Given the description of an element on the screen output the (x, y) to click on. 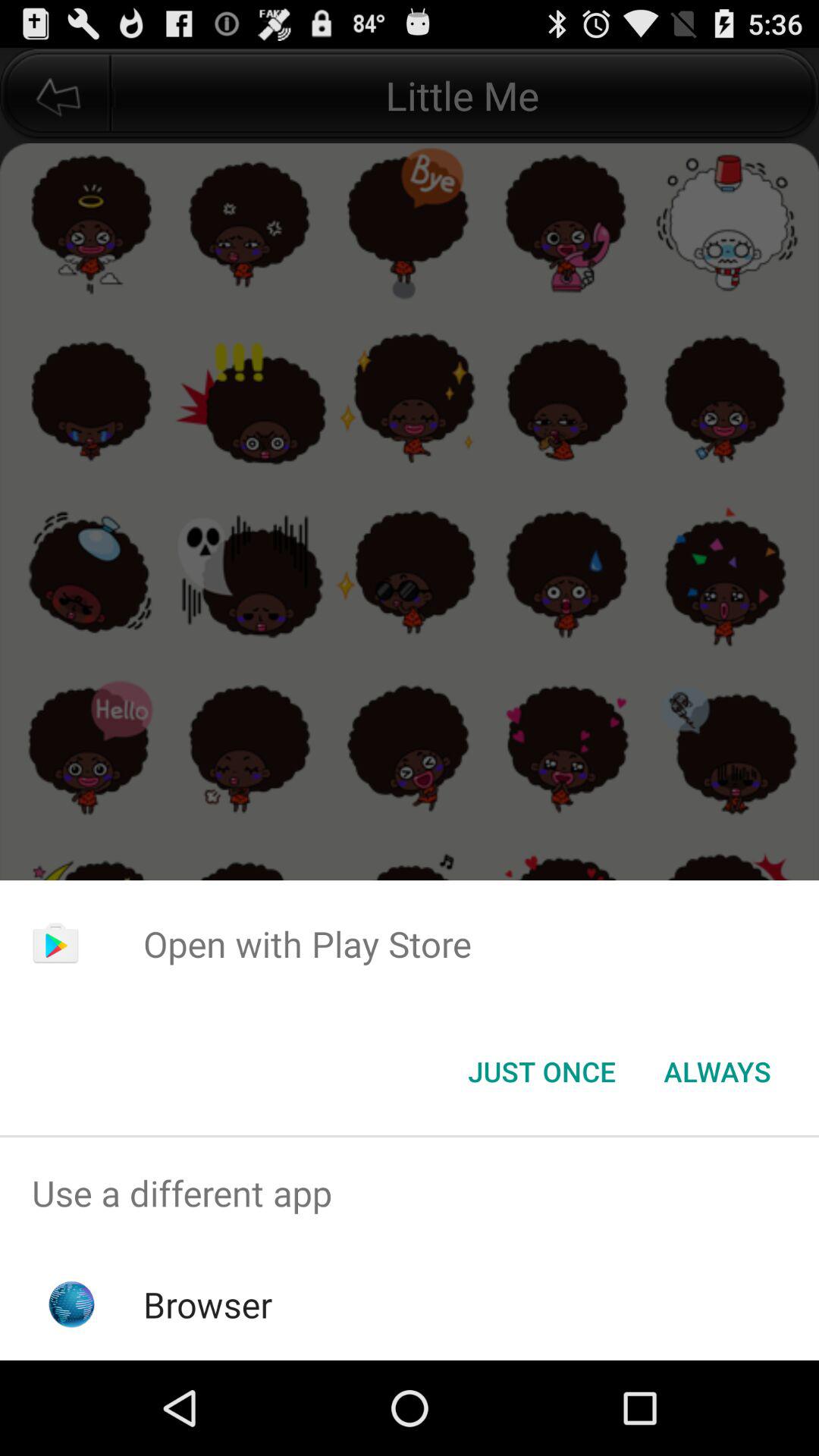
open button to the right of just once item (717, 1071)
